Given the description of an element on the screen output the (x, y) to click on. 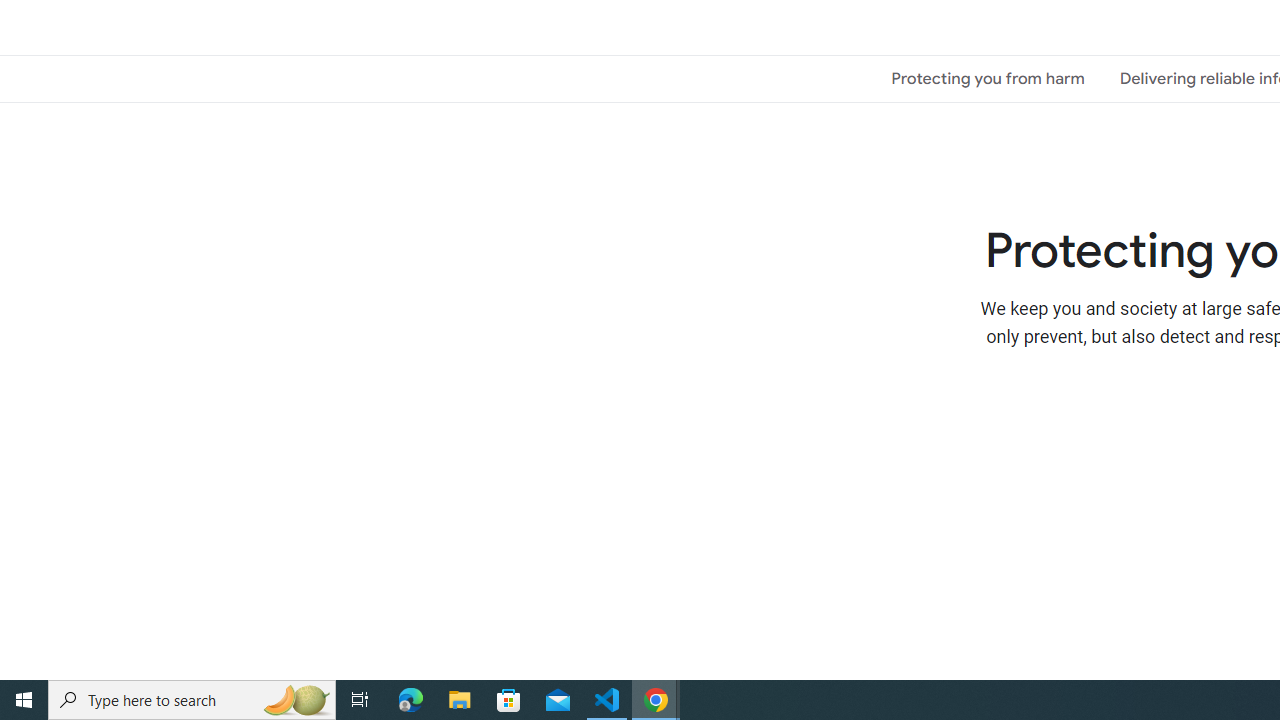
Protecting you from harm (987, 78)
